Given the description of an element on the screen output the (x, y) to click on. 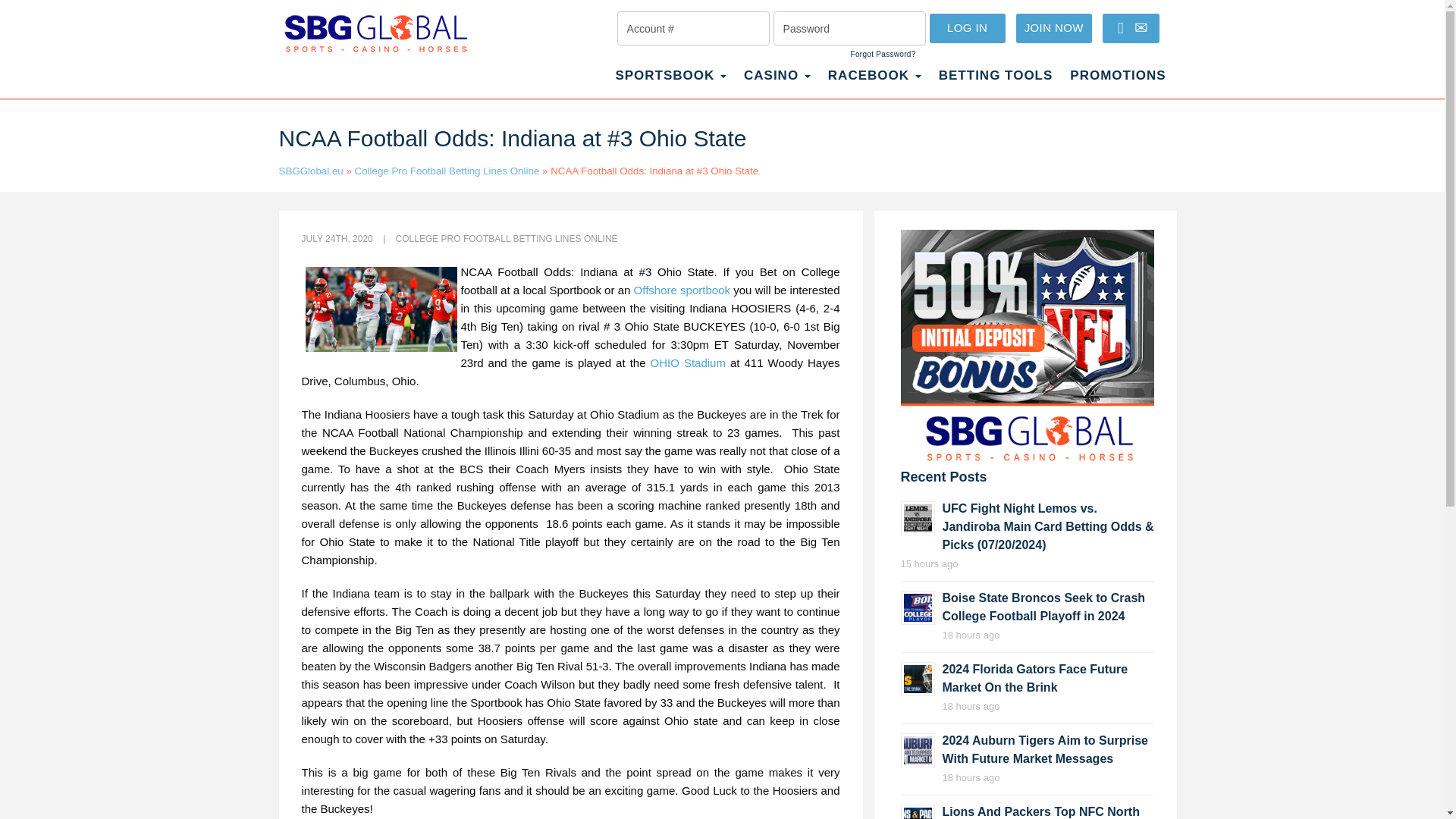
SPORTSBOOK (670, 83)
Sportsbook (670, 83)
LOG IN (968, 28)
JOIN NOW (1054, 28)
Forgot Password? (882, 53)
